Given the description of an element on the screen output the (x, y) to click on. 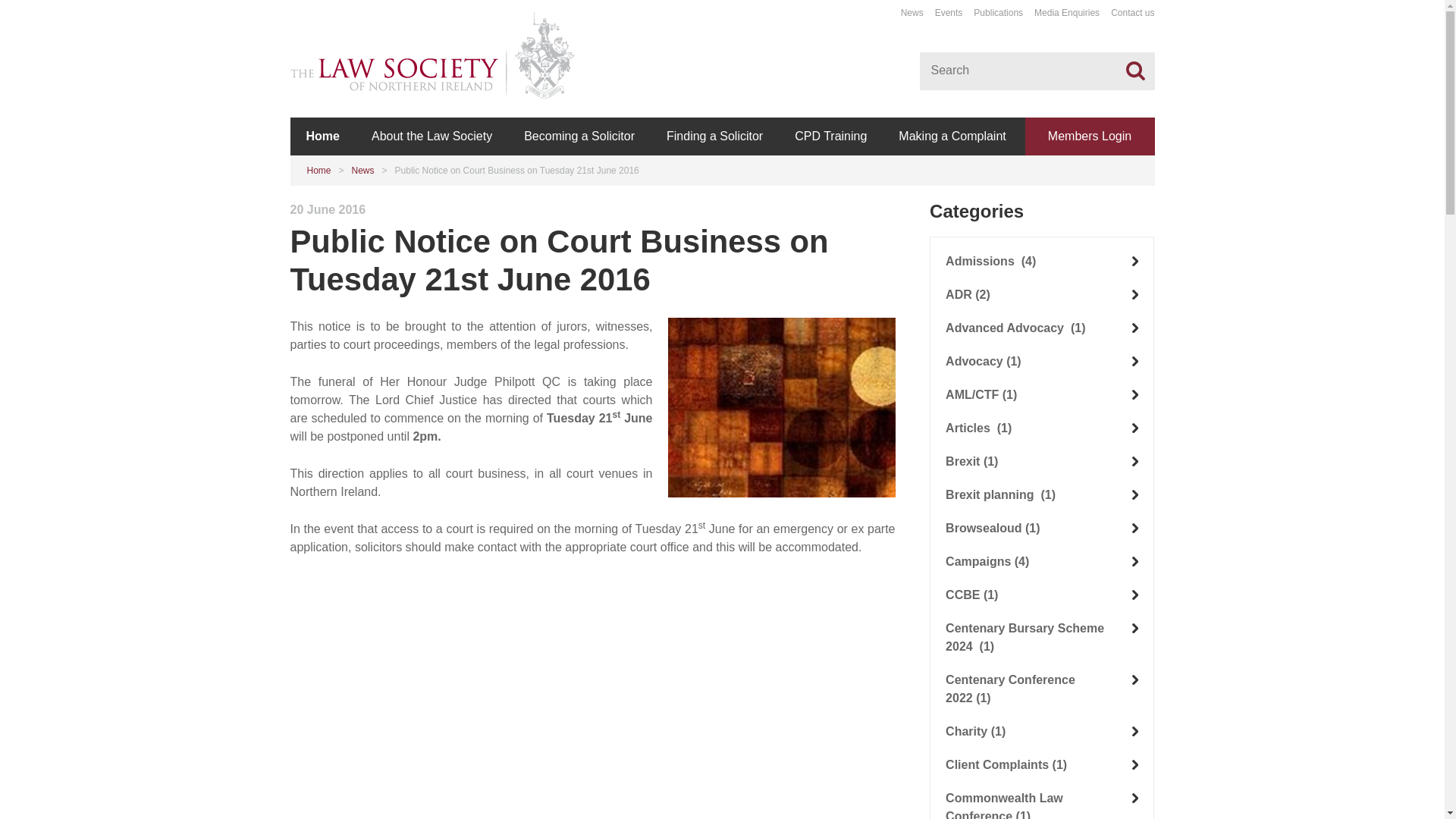
Making a Complaint (952, 136)
Law Society  (780, 407)
Publications (998, 12)
News (912, 12)
Media Enquiries (1066, 12)
About the Law Society (431, 136)
Becoming a Solicitor (579, 136)
CPD Training (830, 136)
Events (948, 12)
News (363, 170)
Home (322, 136)
Home (317, 170)
Finding a Solicitor (714, 136)
Members Login (1089, 136)
Contact us (1132, 12)
